Given the description of an element on the screen output the (x, y) to click on. 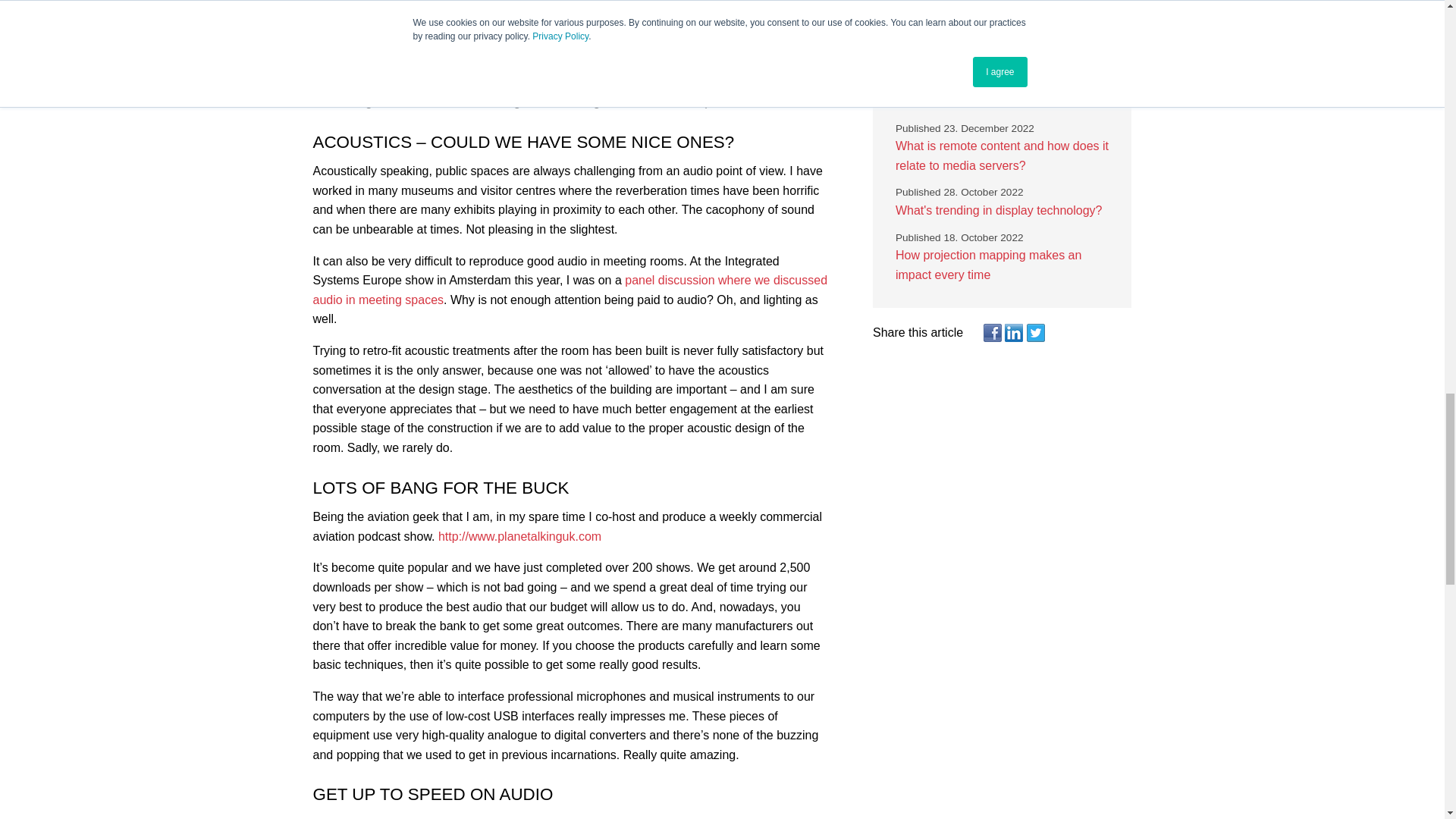
panel discussion where we discussed audio in meeting spaces (570, 289)
